Given the description of an element on the screen output the (x, y) to click on. 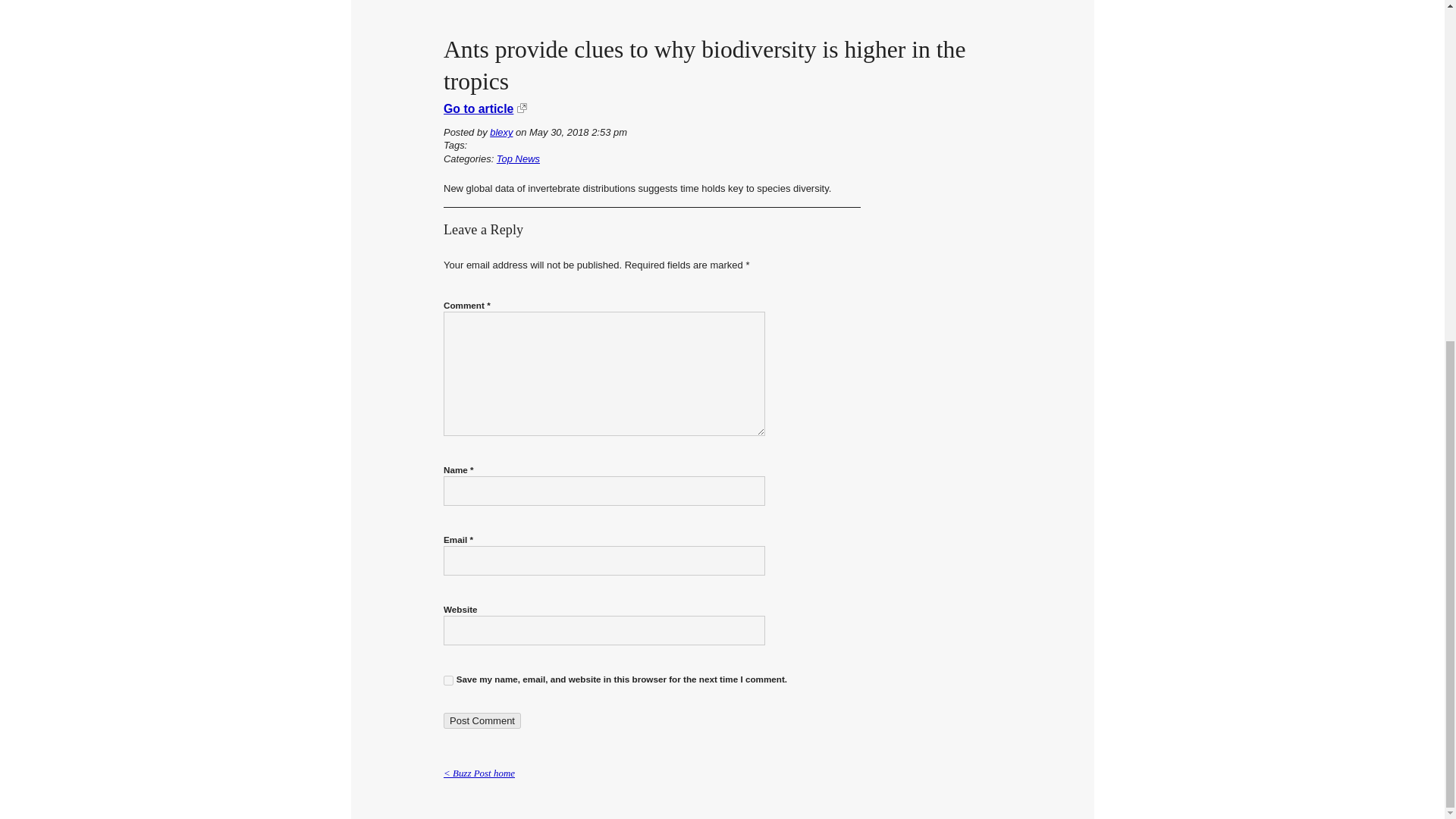
blexy (500, 132)
Post Comment (482, 720)
yes (448, 680)
Top News (518, 158)
Post Comment (482, 720)
Go to article (478, 108)
